Given the description of an element on the screen output the (x, y) to click on. 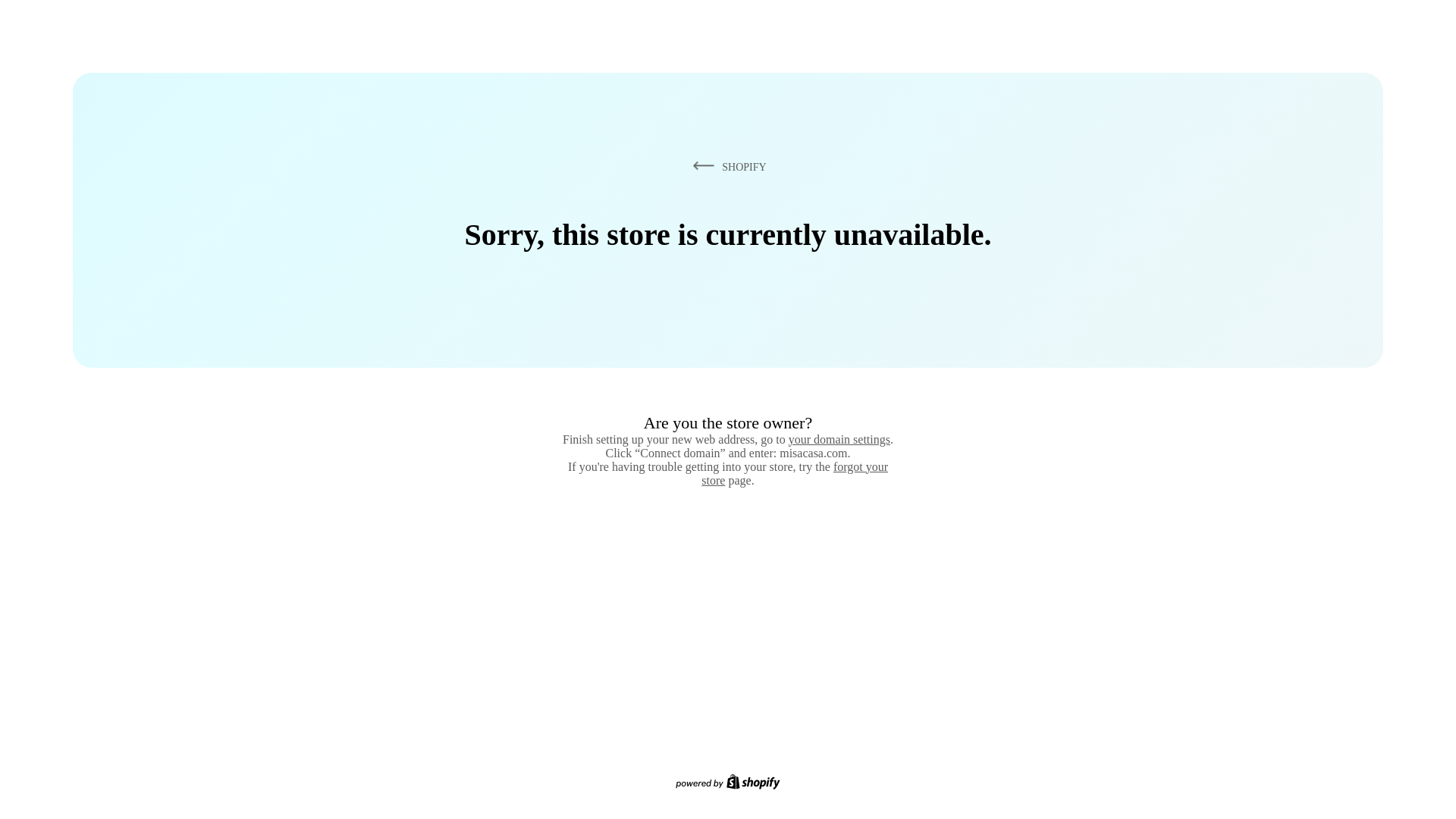
forgot your store (794, 473)
SHOPIFY (726, 166)
your domain settings (839, 439)
